Given the description of an element on the screen output the (x, y) to click on. 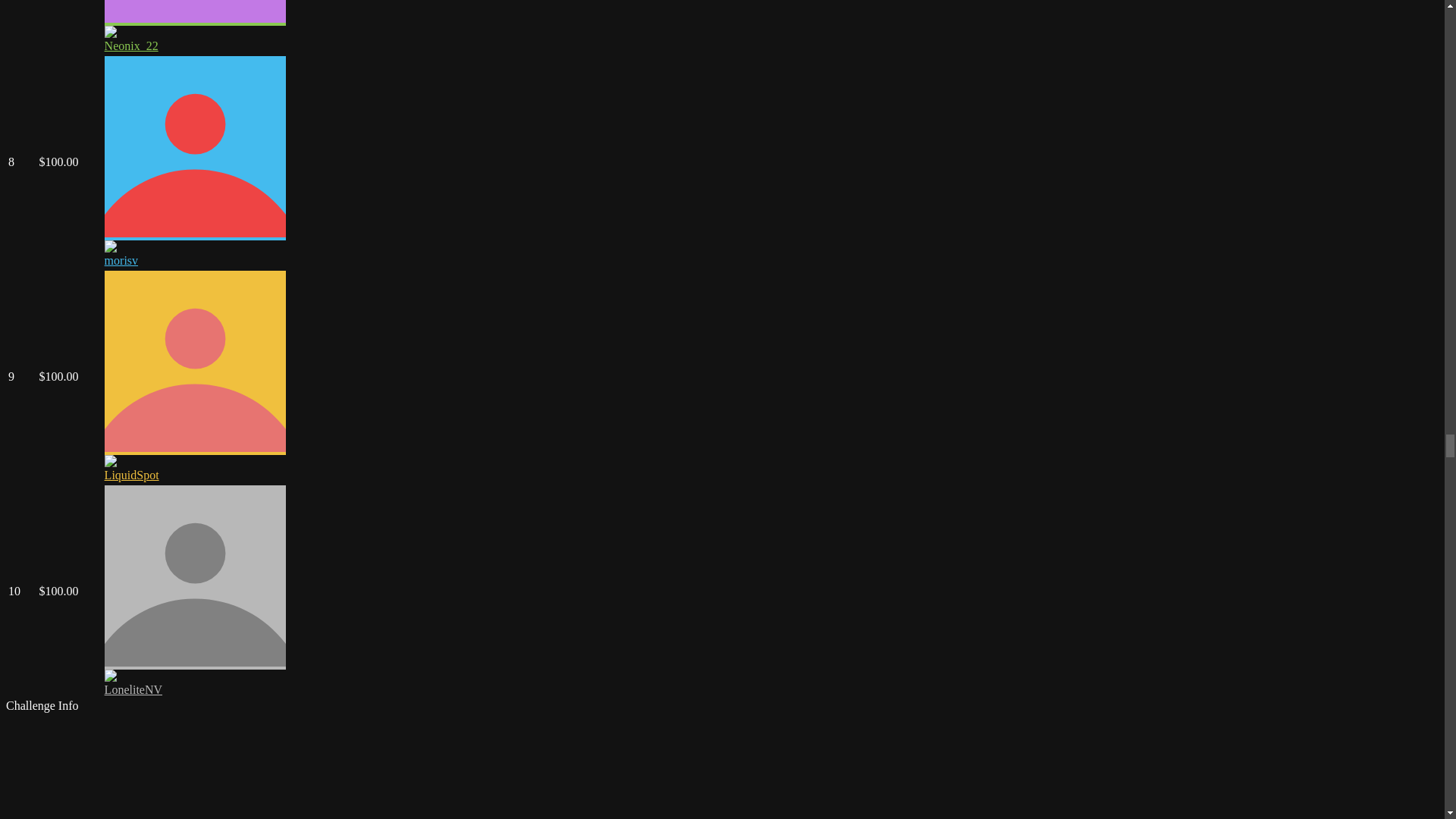
morisv (121, 259)
LiquidSpot (131, 474)
LoneliteNV (132, 689)
